Given the description of an element on the screen output the (x, y) to click on. 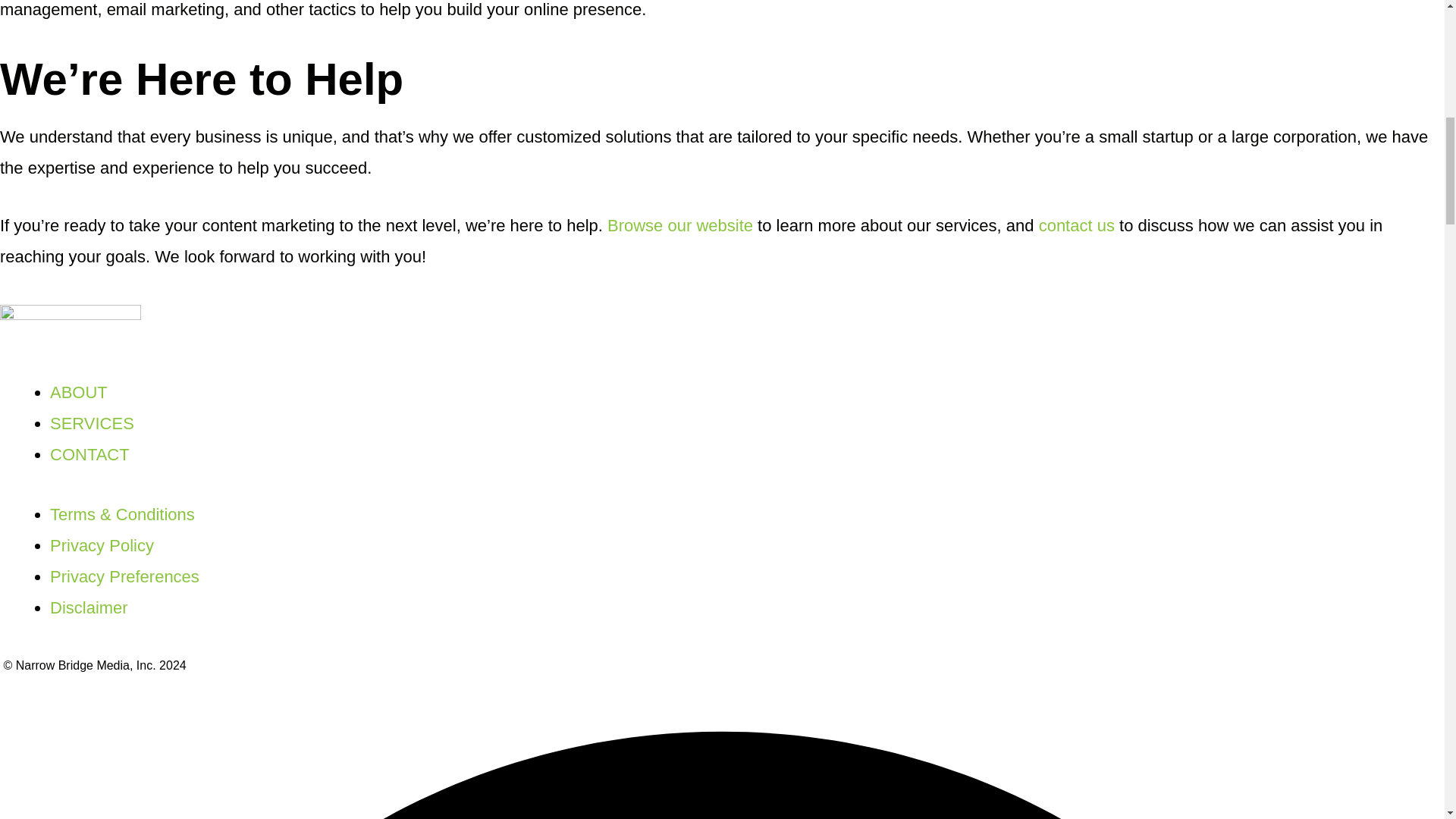
ABOUT (78, 392)
contact us (1077, 225)
SERVICES (91, 423)
Privacy Policy (101, 545)
Disclaimer (88, 607)
CONTACT (89, 454)
Browse our website (679, 225)
CONTACT (1077, 225)
Browse our website (679, 225)
Privacy Preferences (124, 576)
